Given the description of an element on the screen output the (x, y) to click on. 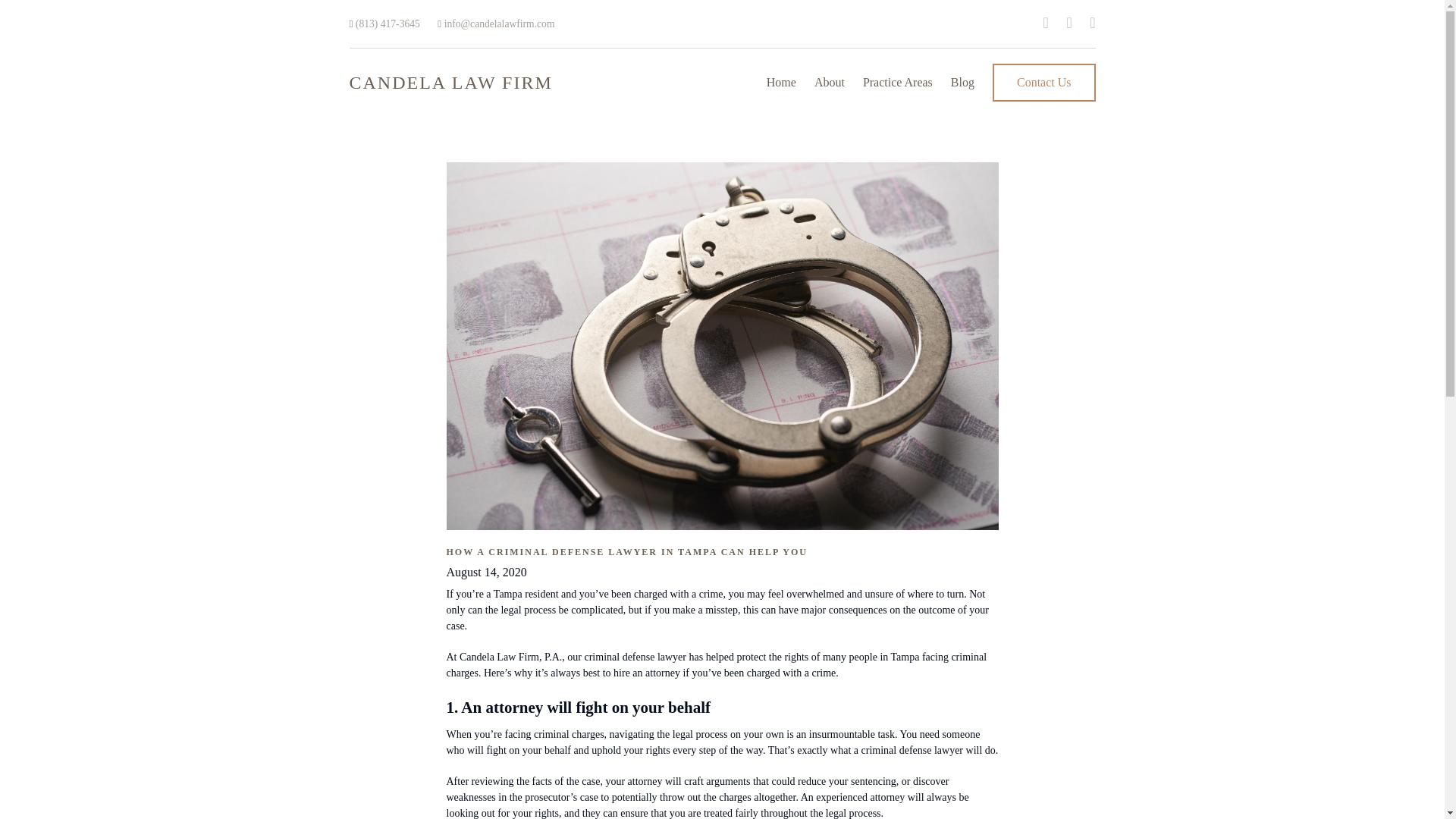
About (828, 82)
Practice Areas (898, 82)
Contact Us (1044, 82)
Home (781, 82)
CANDELA LAW FIRM (450, 82)
Blog (962, 82)
